Given the description of an element on the screen output the (x, y) to click on. 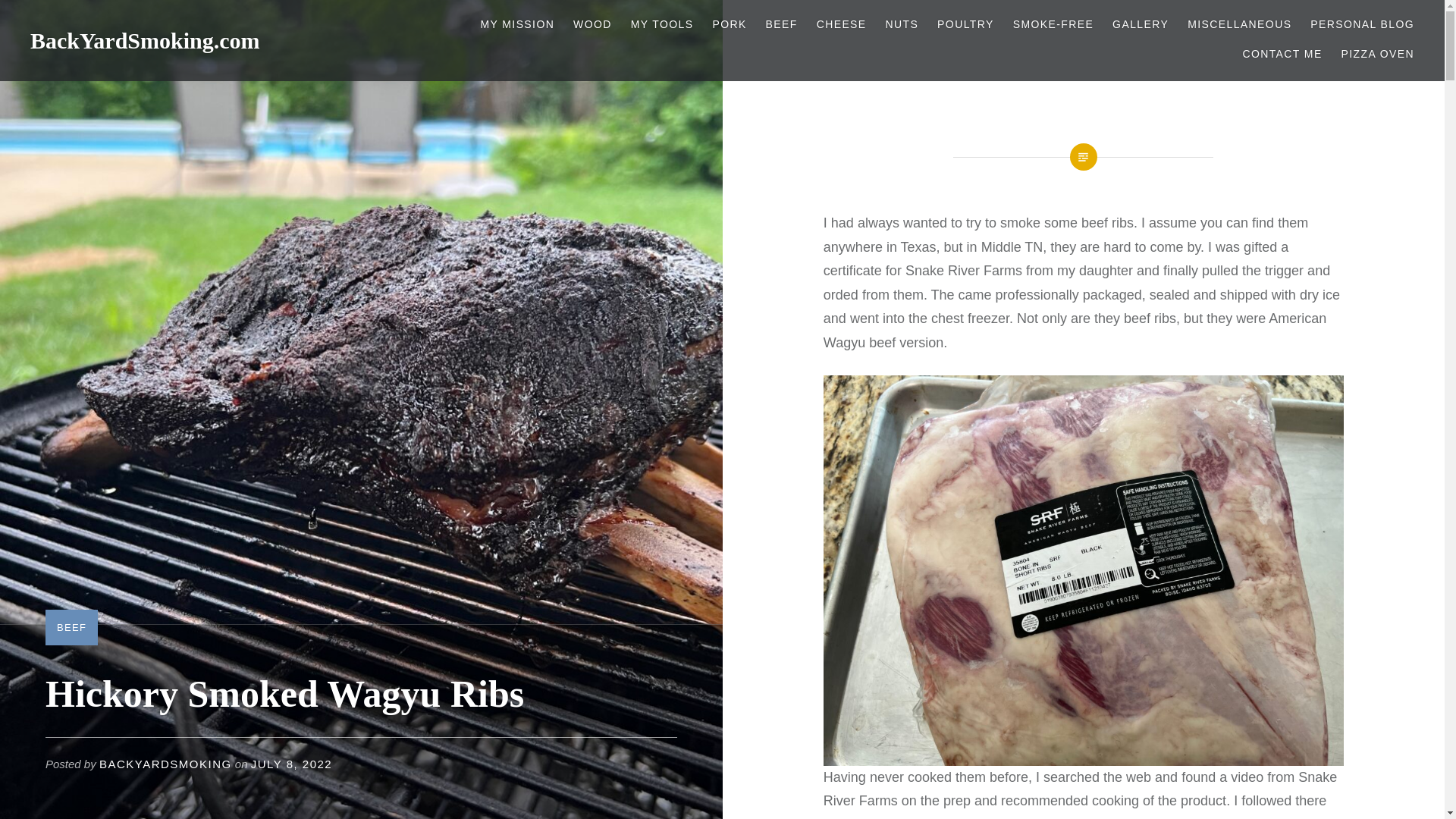
BEEF (781, 24)
Smoke-free (1053, 24)
My Mission (517, 24)
PORK (728, 24)
Wood (592, 24)
SMOKE-FREE (1053, 24)
BackYardSmoking.com (145, 40)
PIZZA OVEN (1376, 54)
BACKYARDSMOKING (165, 763)
My Tools (662, 24)
Beef (781, 24)
NUTS (901, 24)
Beef (70, 627)
MISCELLANEOUS (1239, 24)
Miscellaneous (1239, 24)
